Given the description of an element on the screen output the (x, y) to click on. 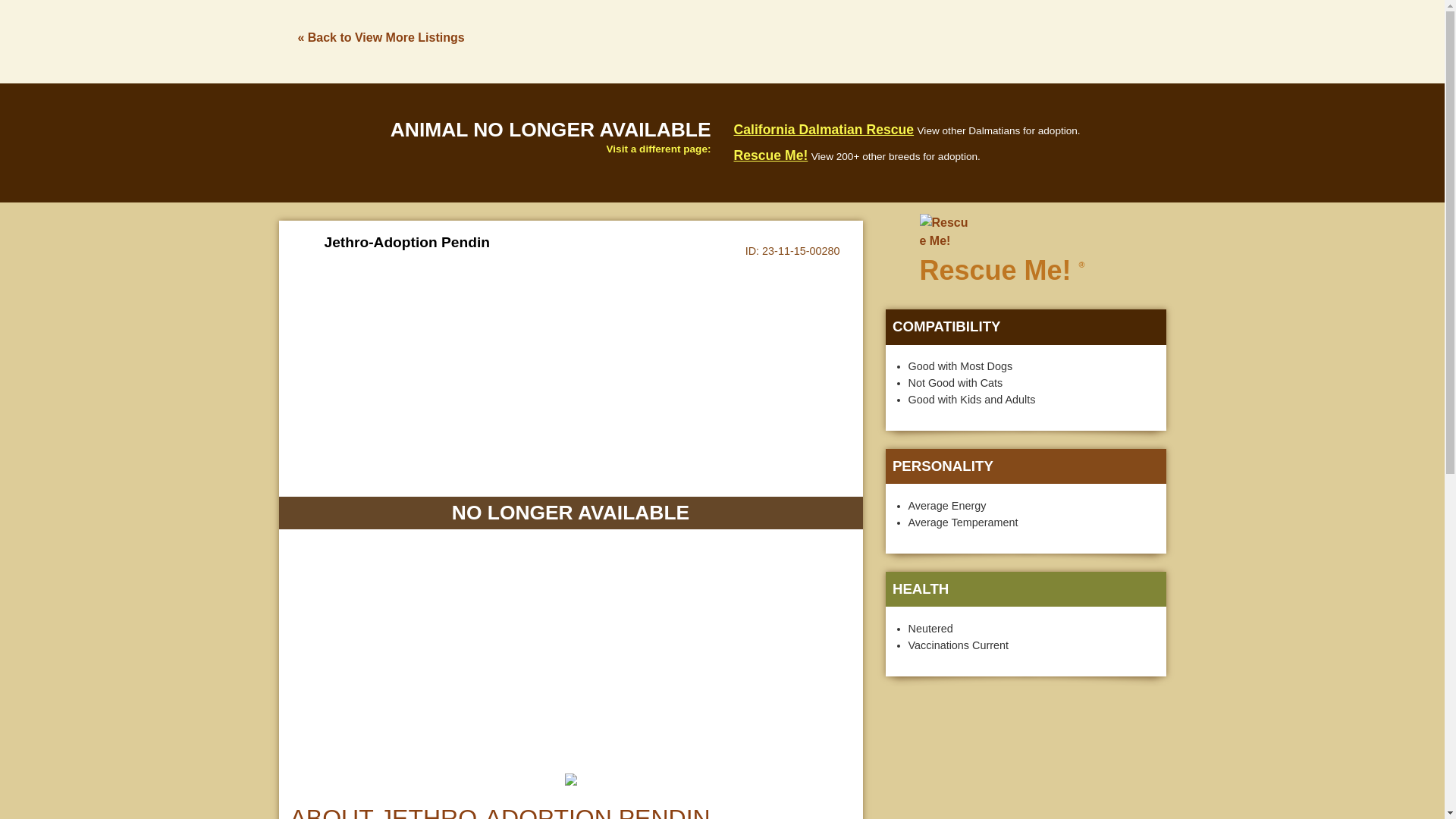
California Dalmatian Rescue (823, 129)
Rescue Me! (770, 155)
